Given the description of an element on the screen output the (x, y) to click on. 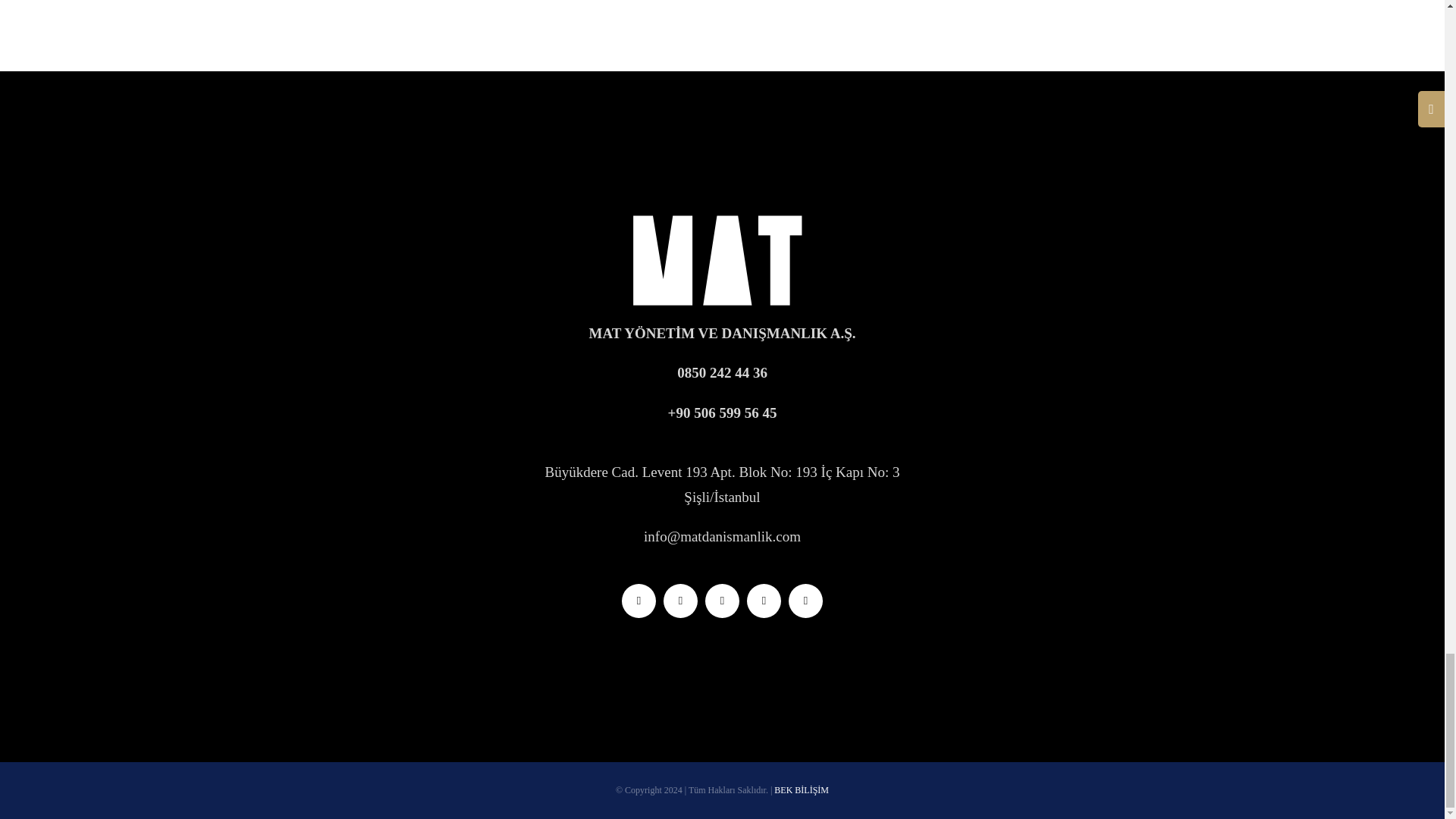
WhatsApp (763, 600)
LinkedIn (721, 600)
Phone (805, 600)
Instagram (680, 600)
Twitter (638, 600)
